Given the description of an element on the screen output the (x, y) to click on. 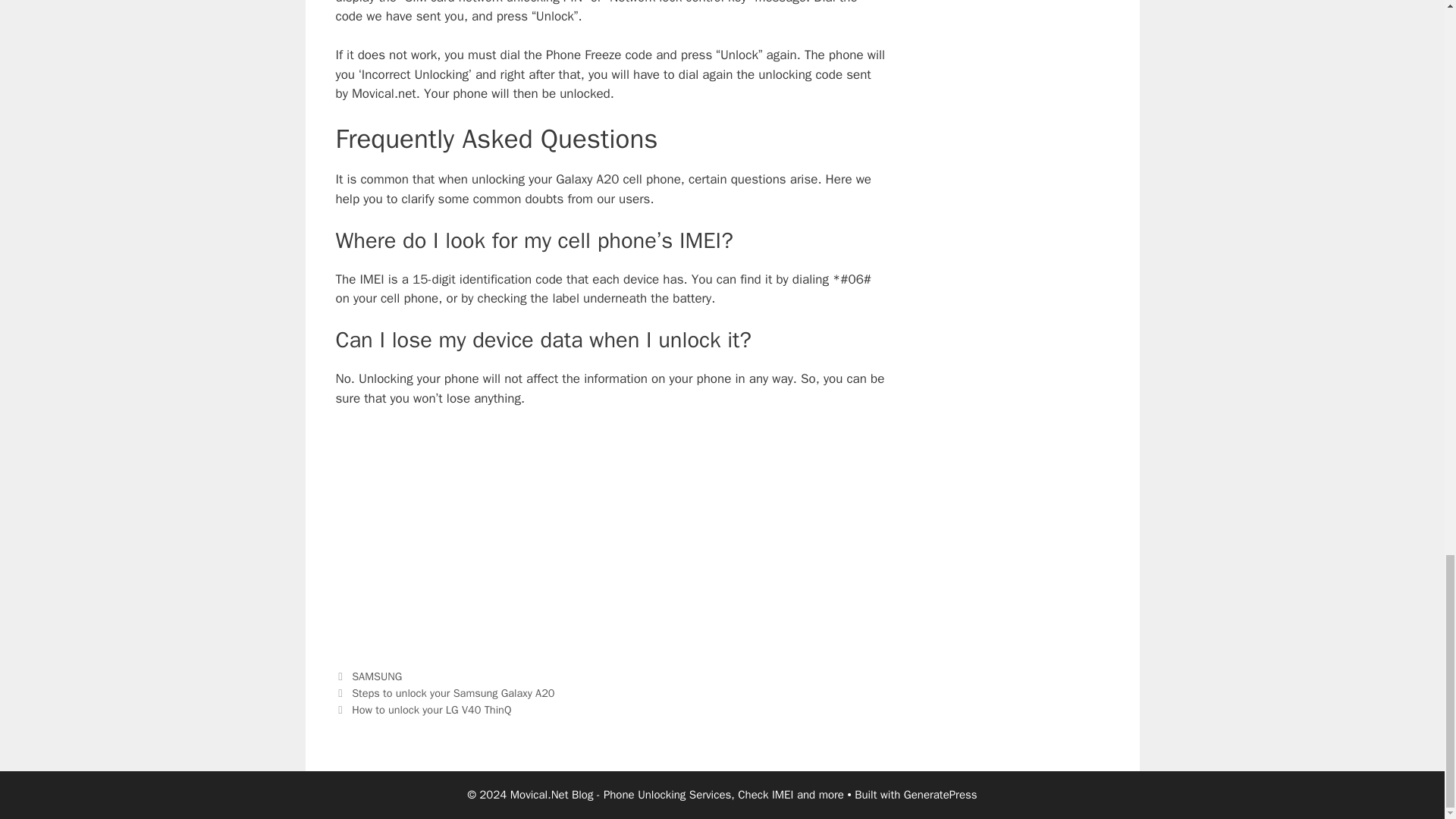
SAMSUNG (376, 676)
GeneratePress (940, 794)
Steps to unlock your Samsung Galaxy A20 (453, 693)
Advertisement (609, 533)
How to unlock your LG V40 ThinQ (431, 709)
